Given the description of an element on the screen output the (x, y) to click on. 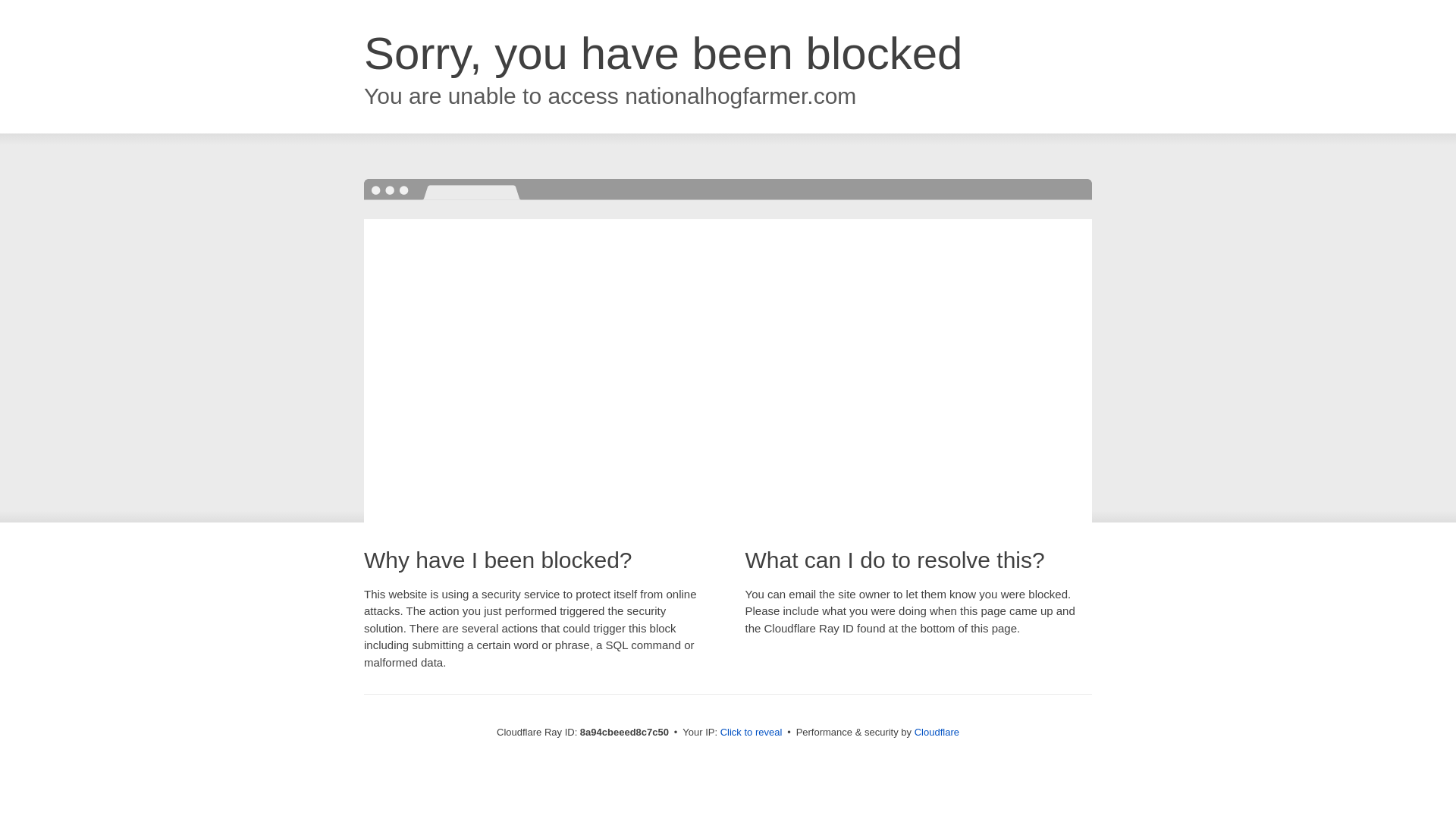
Click to reveal (751, 732)
Cloudflare (936, 731)
